Given the description of an element on the screen output the (x, y) to click on. 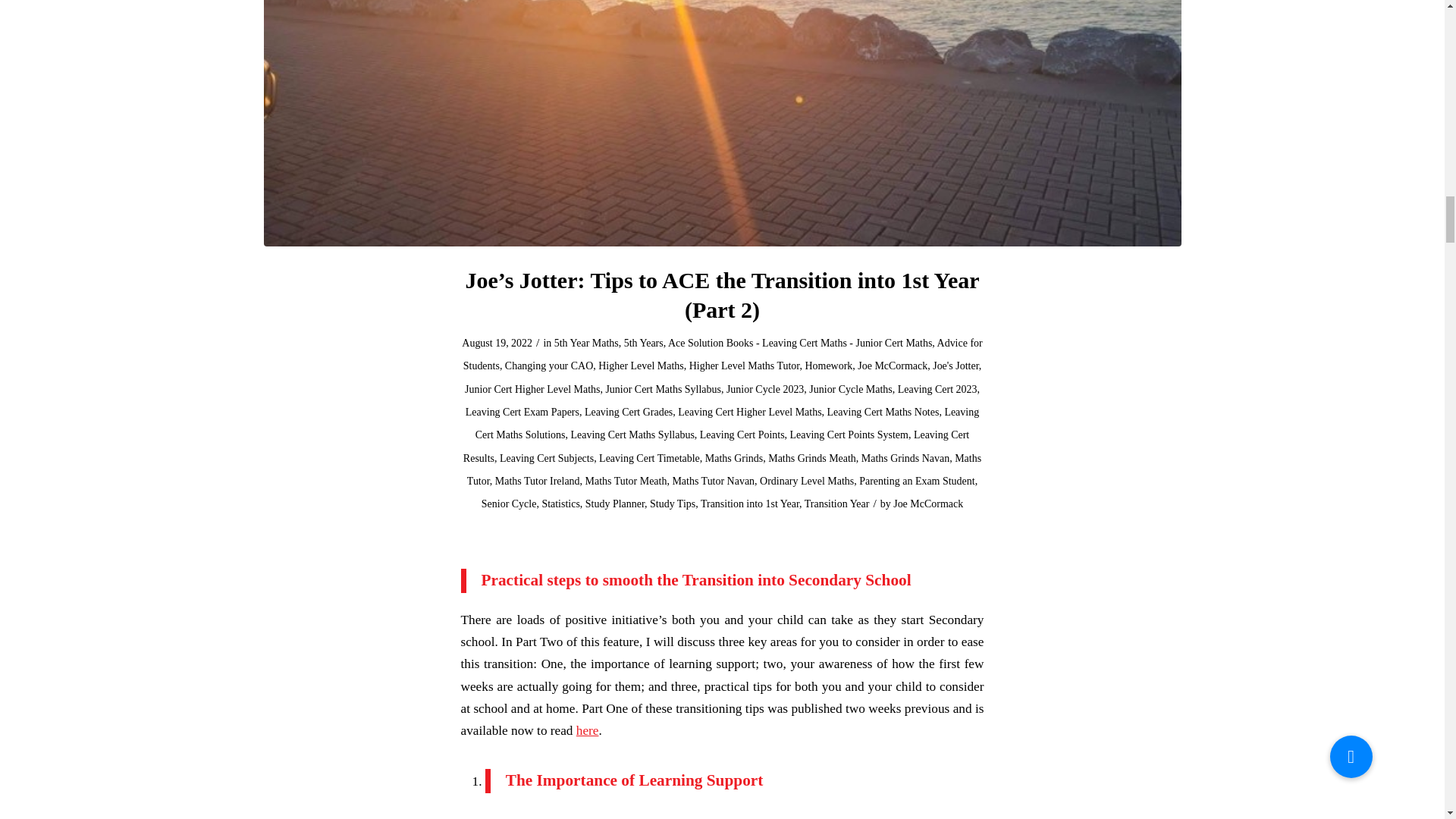
Posts by Joe McCormack (927, 503)
